Given the description of an element on the screen output the (x, y) to click on. 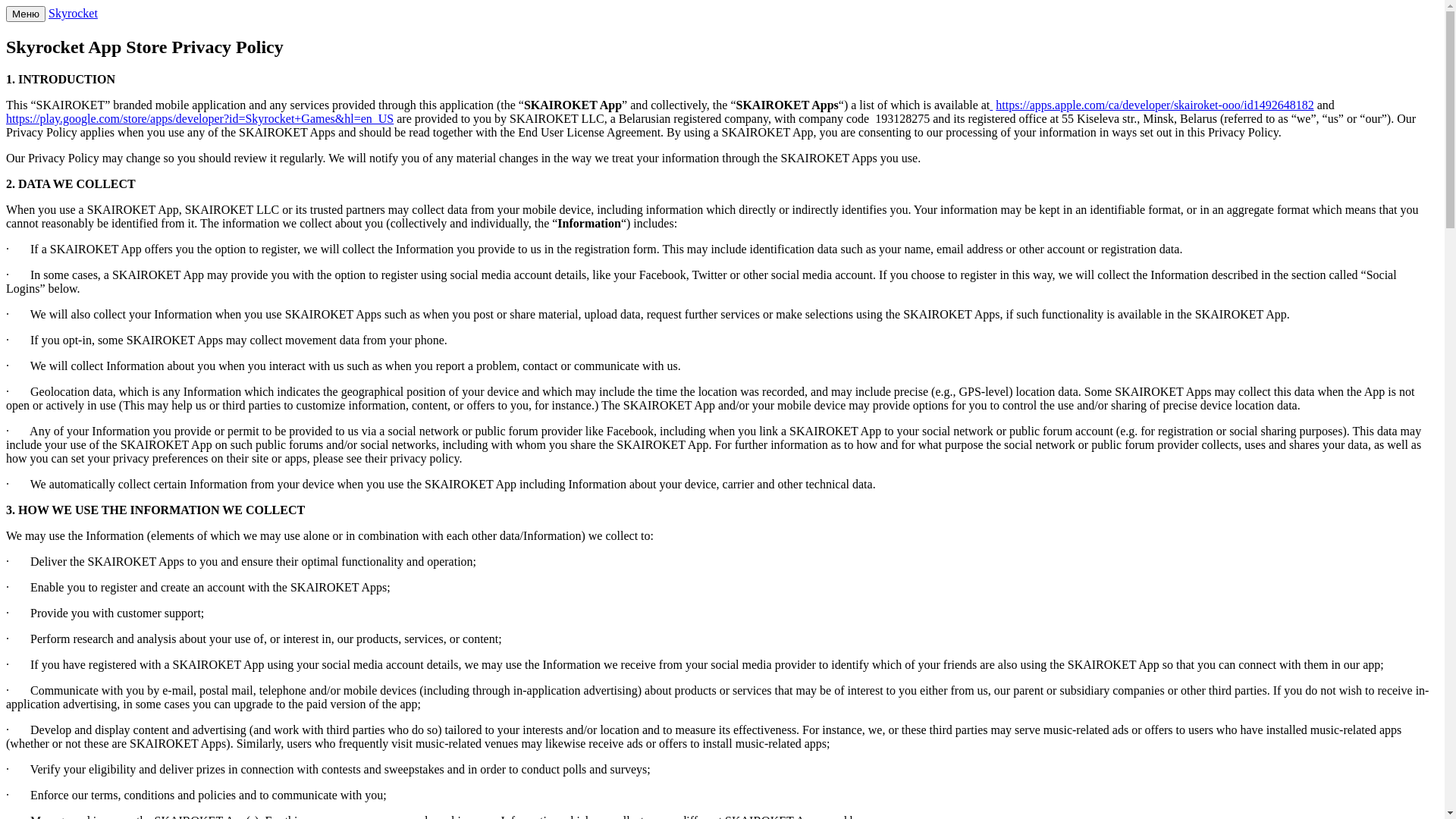
http://company.neosus.net/ Element type: hover (990, 104)
  Element type: text (990, 104)
Skyrocket Element type: text (72, 12)
